Given the description of an element on the screen output the (x, y) to click on. 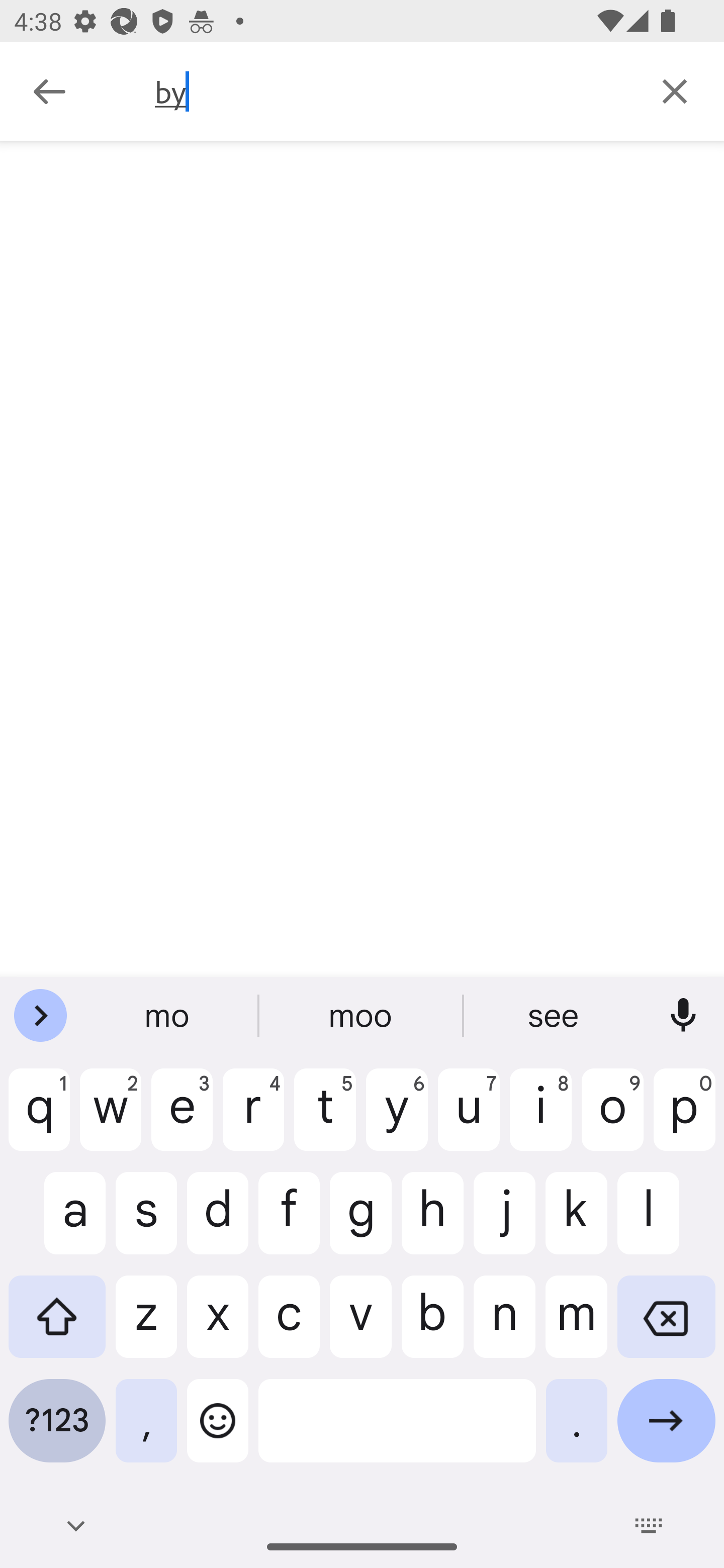
Navigate up (49, 91)
Clear query (674, 90)
by (389, 91)
